Given the description of an element on the screen output the (x, y) to click on. 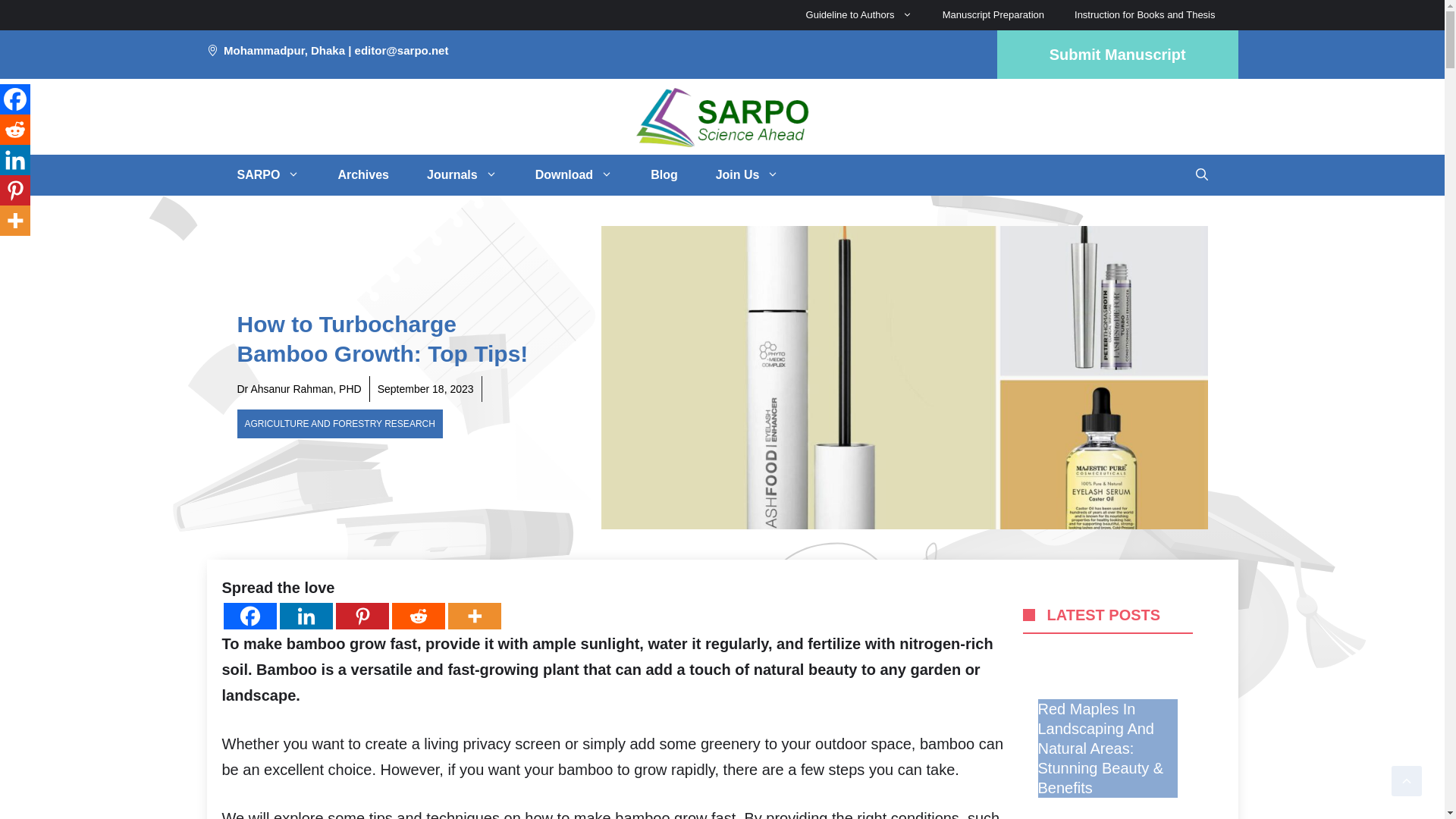
Journals (461, 174)
Pinterest (361, 615)
Manuscript Preparation (993, 15)
Submit Manuscript (1118, 54)
Facebook (15, 99)
SARPO (268, 174)
Linkedin (305, 615)
Facebook (249, 615)
Reddit (15, 129)
More (15, 220)
